Given the description of an element on the screen output the (x, y) to click on. 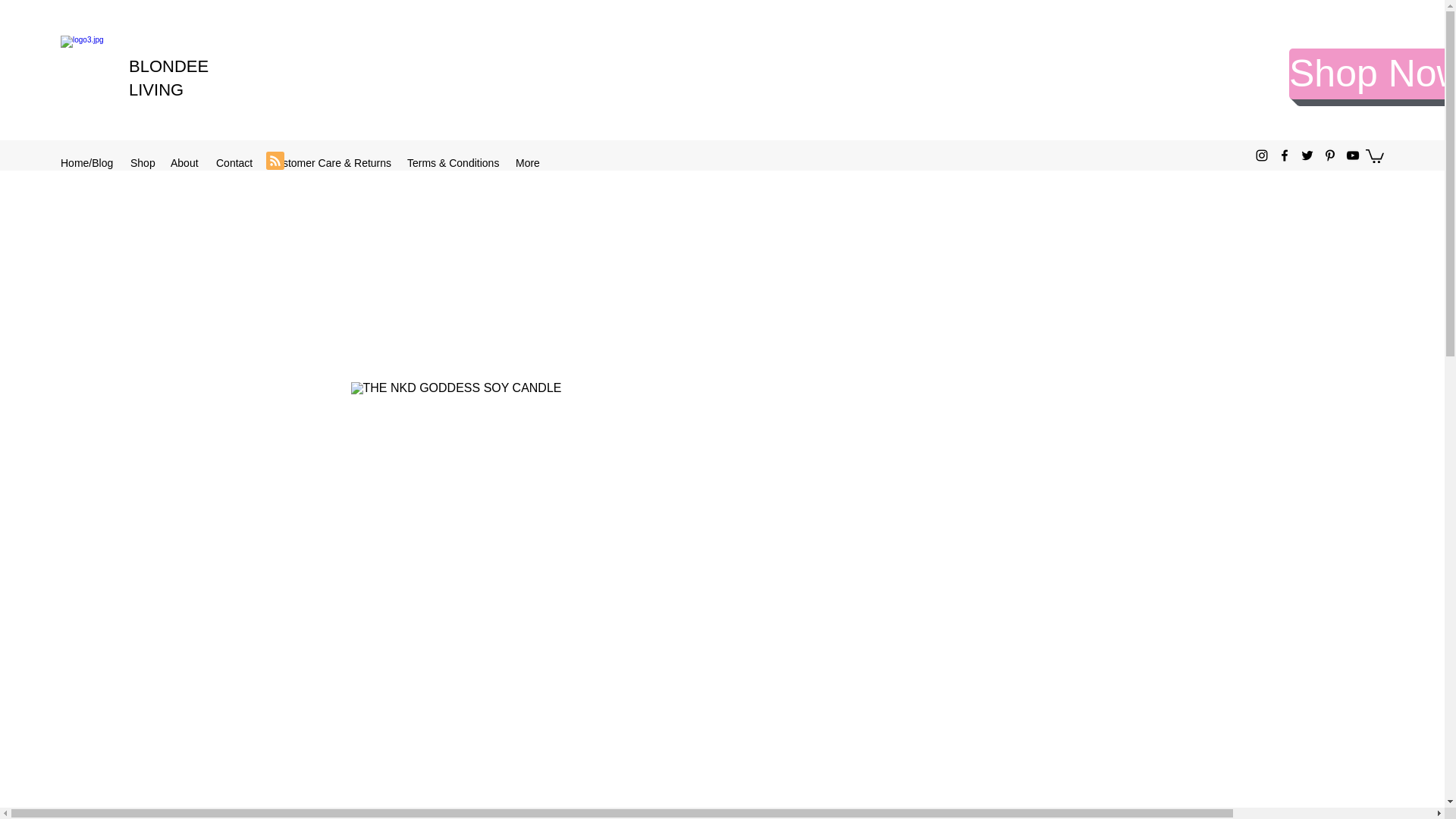
Contact (235, 162)
About (185, 162)
BLONDEE LIVING (168, 77)
Shop (142, 162)
